Given the description of an element on the screen output the (x, y) to click on. 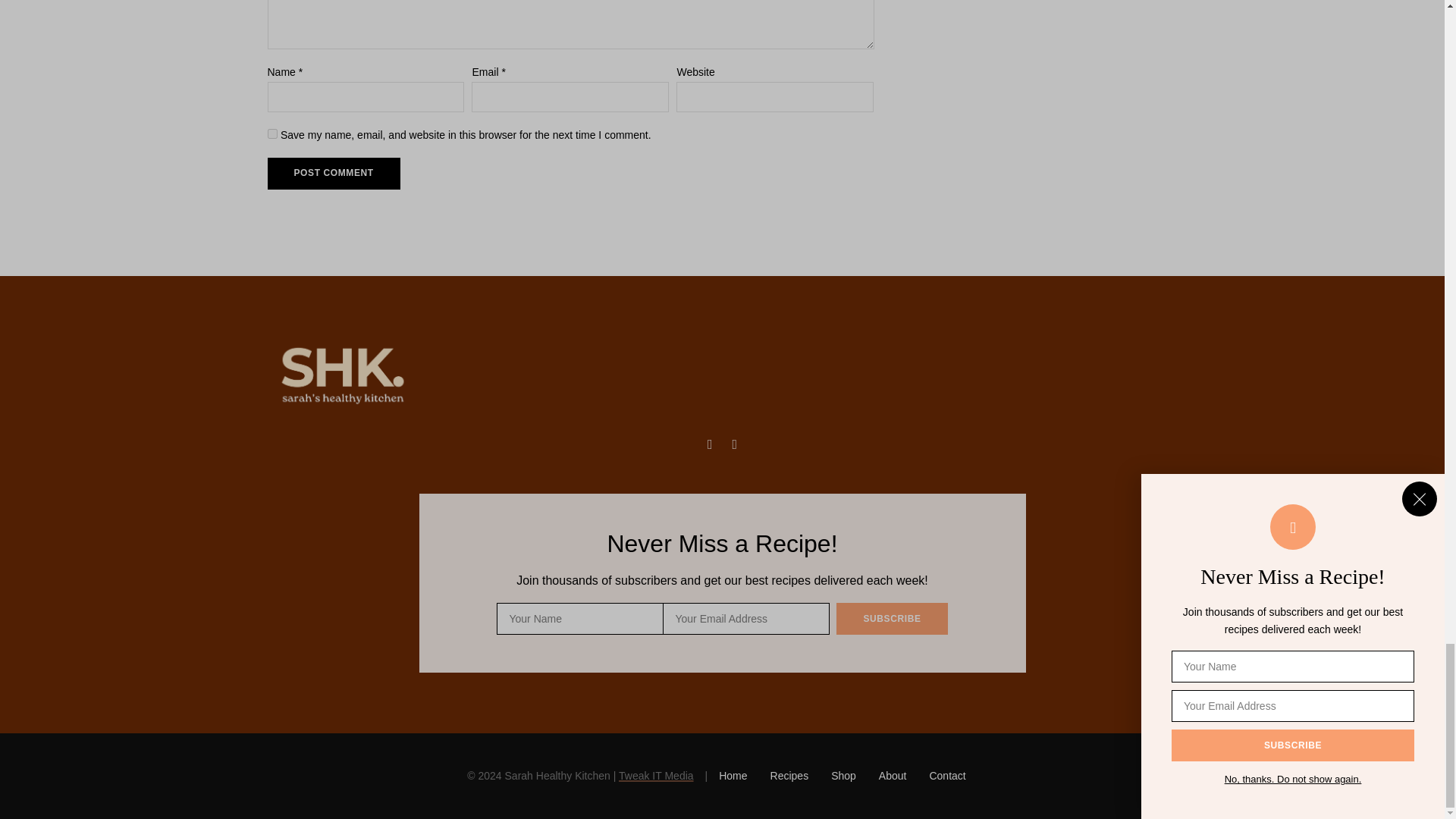
yes (271, 133)
Post Comment (332, 173)
Subscribe (891, 618)
